Given the description of an element on the screen output the (x, y) to click on. 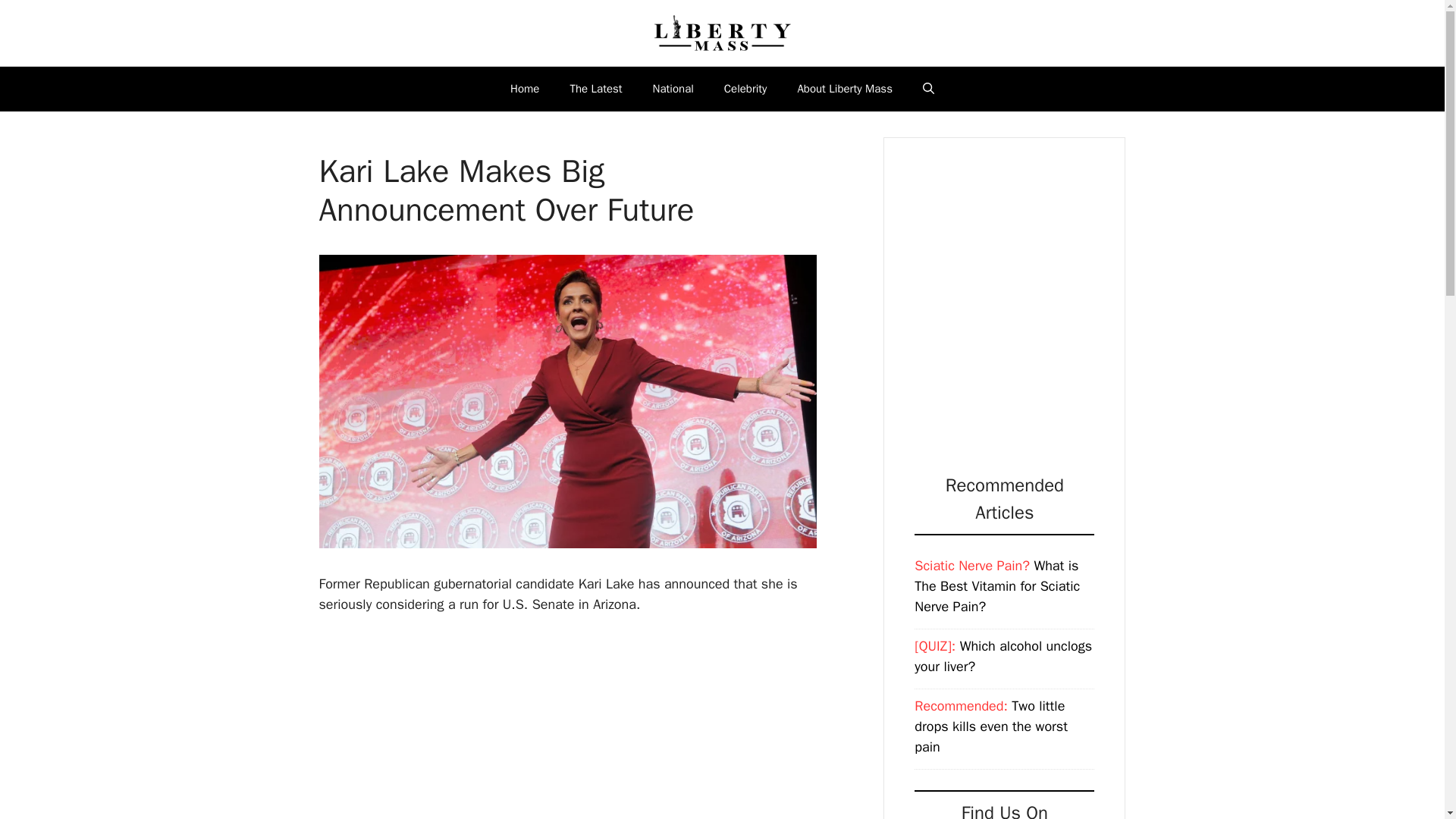
Celebrity (746, 88)
Advertisement (1045, 289)
About Liberty Mass (844, 88)
Home (524, 88)
The Latest (595, 88)
National (673, 88)
Advertisement (637, 727)
Recommended: Two little drops kills even the worst pain (990, 726)
